Given the description of an element on the screen output the (x, y) to click on. 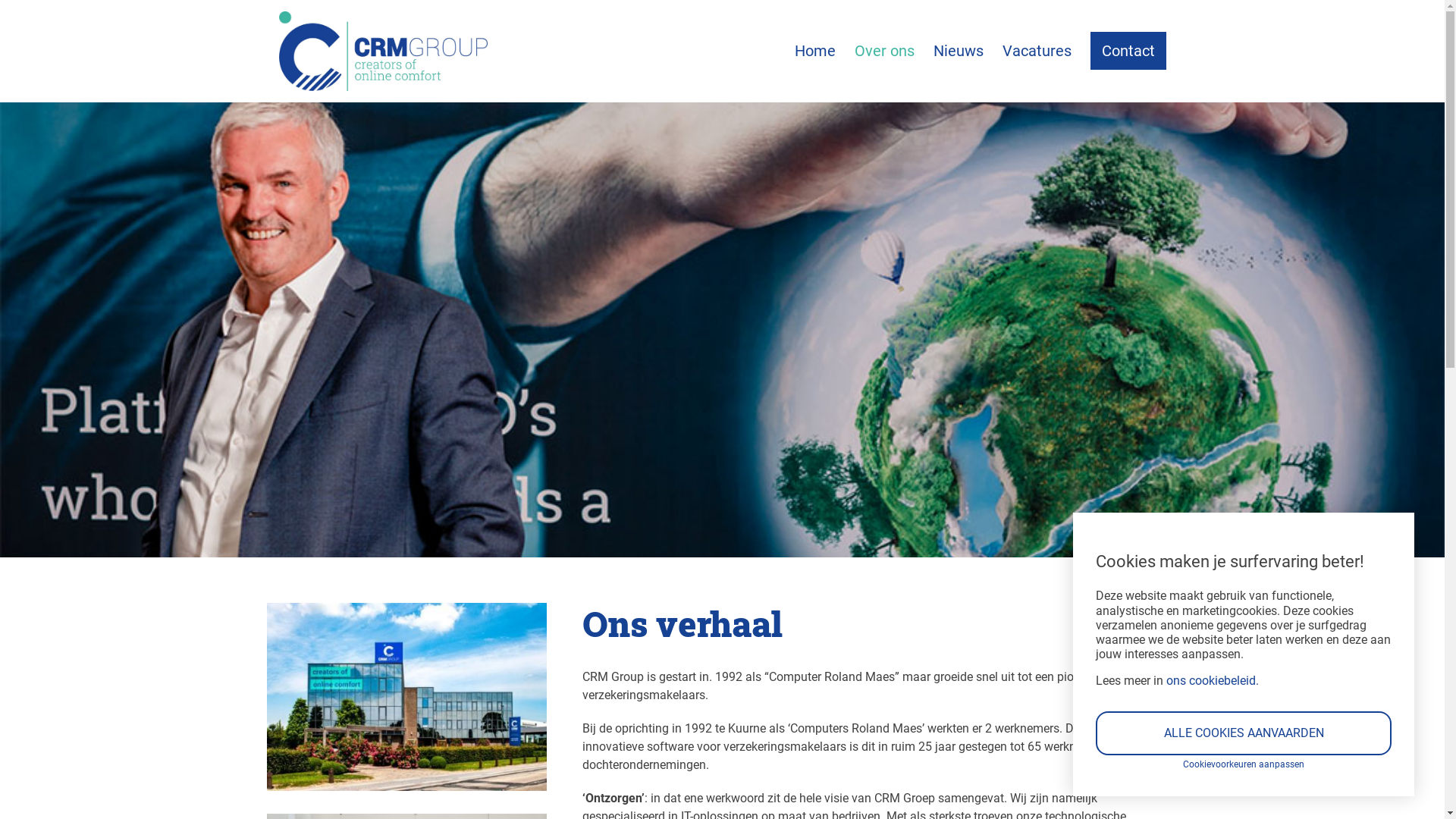
Contact Element type: text (1127, 50)
ALLE COOKIES AANVAARDEN Element type: text (1243, 733)
Cookievoorkeuren aanpassen Element type: text (1243, 764)
Nieuws Element type: text (957, 50)
Over ons Element type: text (883, 50)
Home Element type: text (814, 50)
ons cookiebeleid. Element type: text (1212, 680)
Vacatures Element type: text (1036, 50)
